Given the description of an element on the screen output the (x, y) to click on. 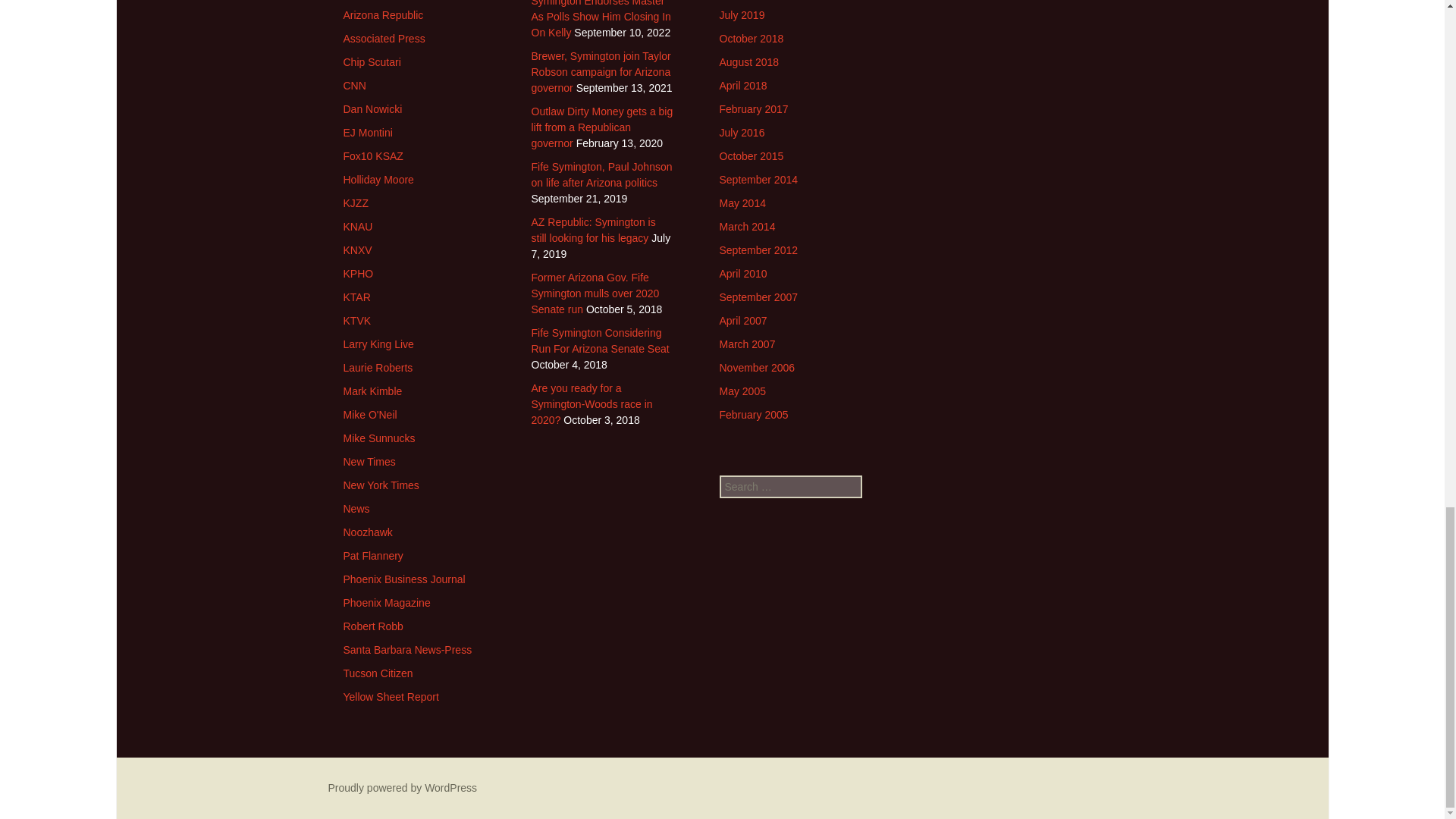
Mark Kimble (371, 390)
KNXV (356, 250)
Mike Sunnucks (378, 438)
KTVK (356, 320)
KNAU (357, 226)
KPHO (357, 273)
Chip Scutari (371, 61)
Semantic Personal Publishing Platform (402, 787)
KTAR (355, 297)
Larry King Live (377, 344)
